Given the description of an element on the screen output the (x, y) to click on. 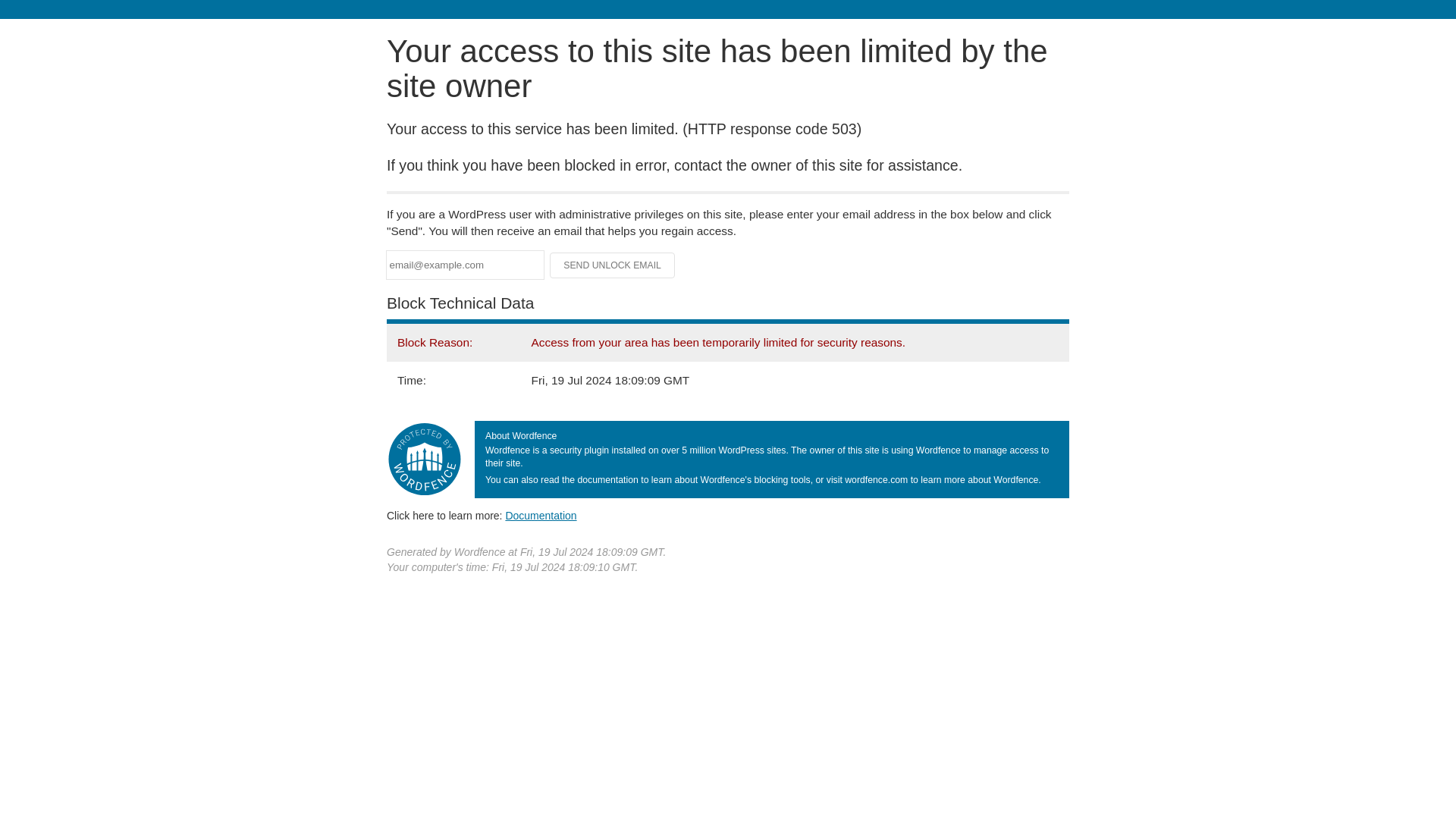
Documentation (540, 515)
Send Unlock Email (612, 265)
Send Unlock Email (612, 265)
